Given the description of an element on the screen output the (x, y) to click on. 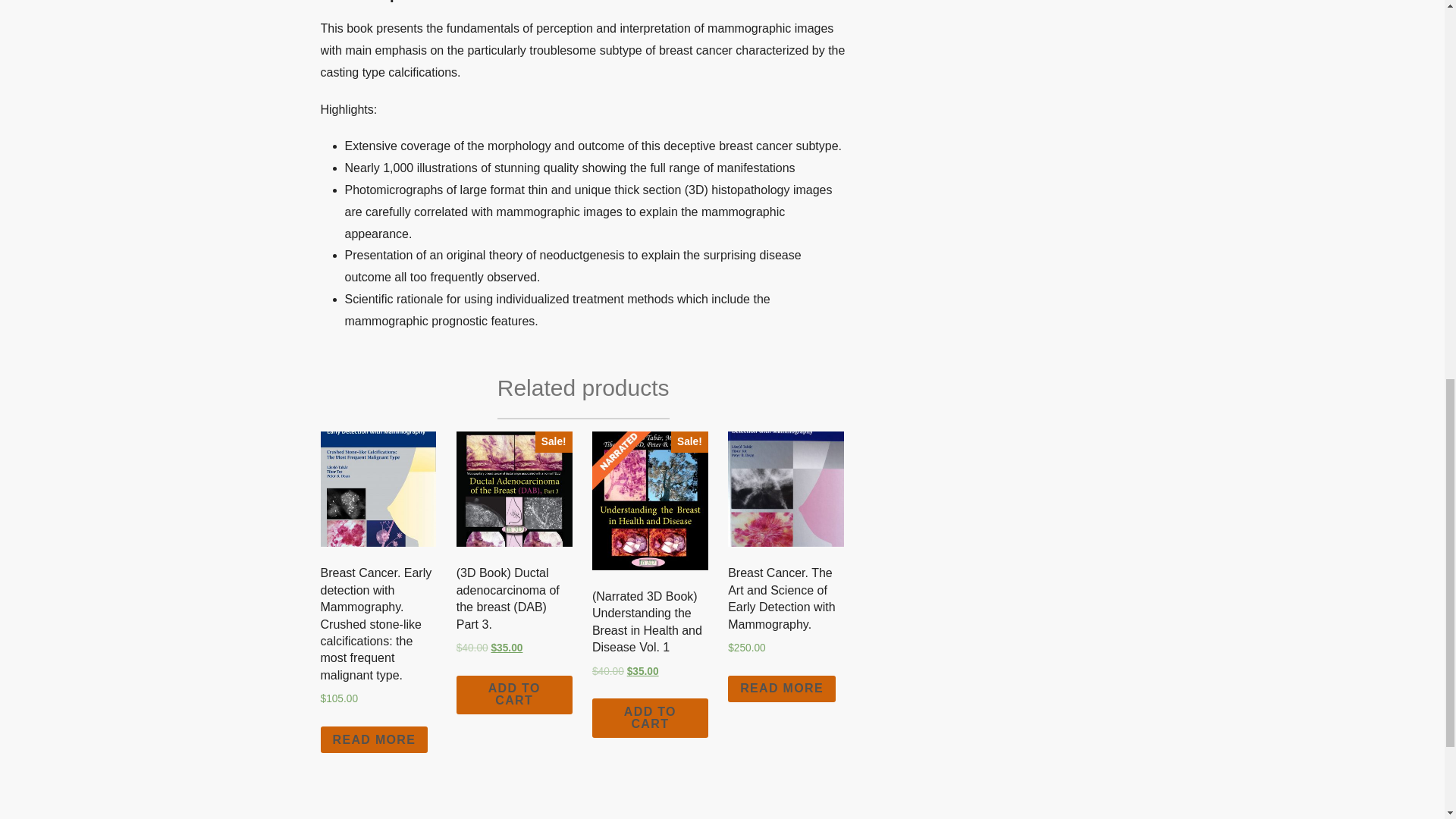
ADD TO CART (514, 694)
READ MORE (781, 688)
ADD TO CART (649, 717)
READ MORE (374, 739)
